Given the description of an element on the screen output the (x, y) to click on. 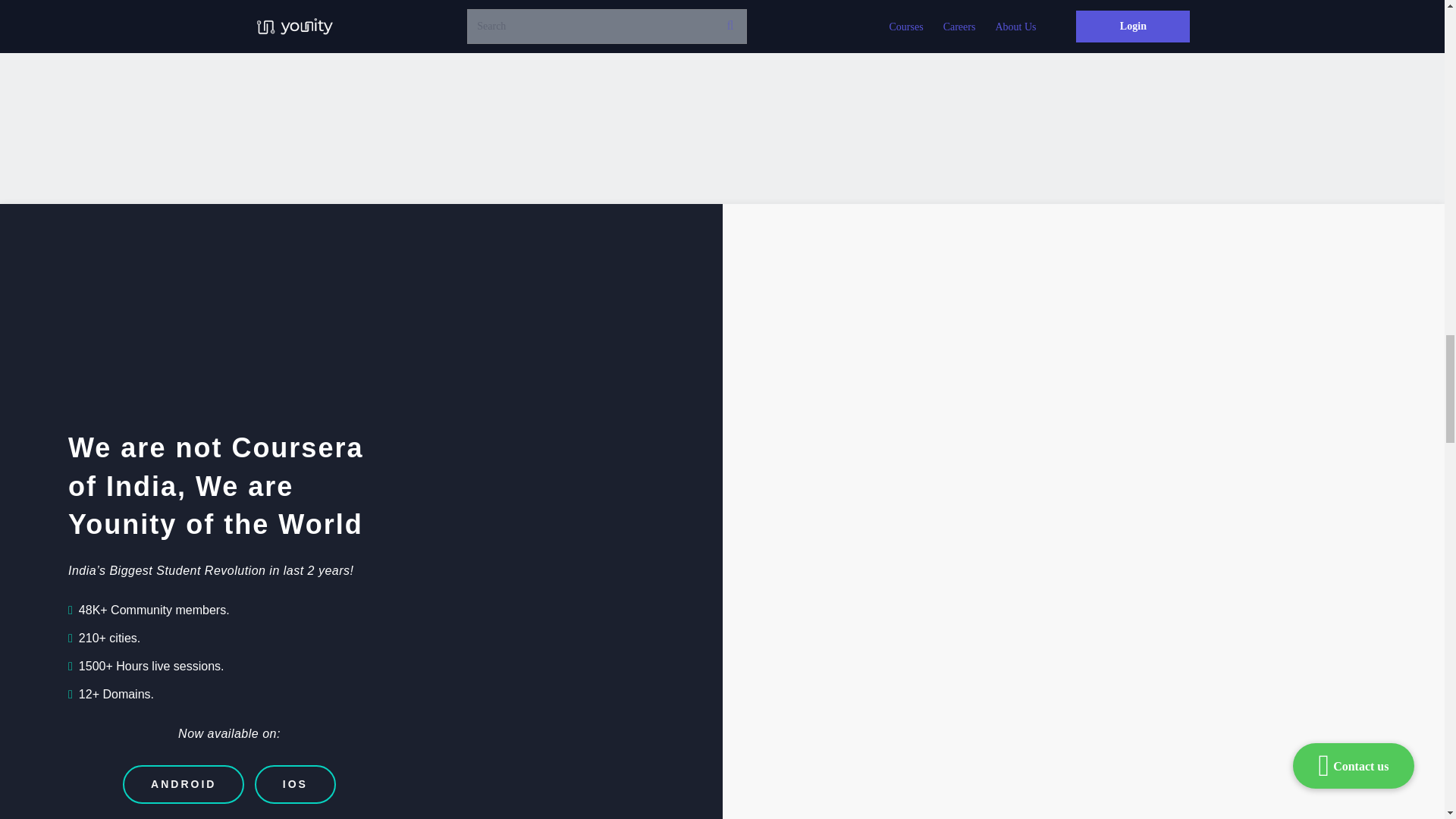
Younity on Play Store (819, 457)
IOS (295, 783)
ANDROID (183, 783)
Younity Website (993, 421)
